Given the description of an element on the screen output the (x, y) to click on. 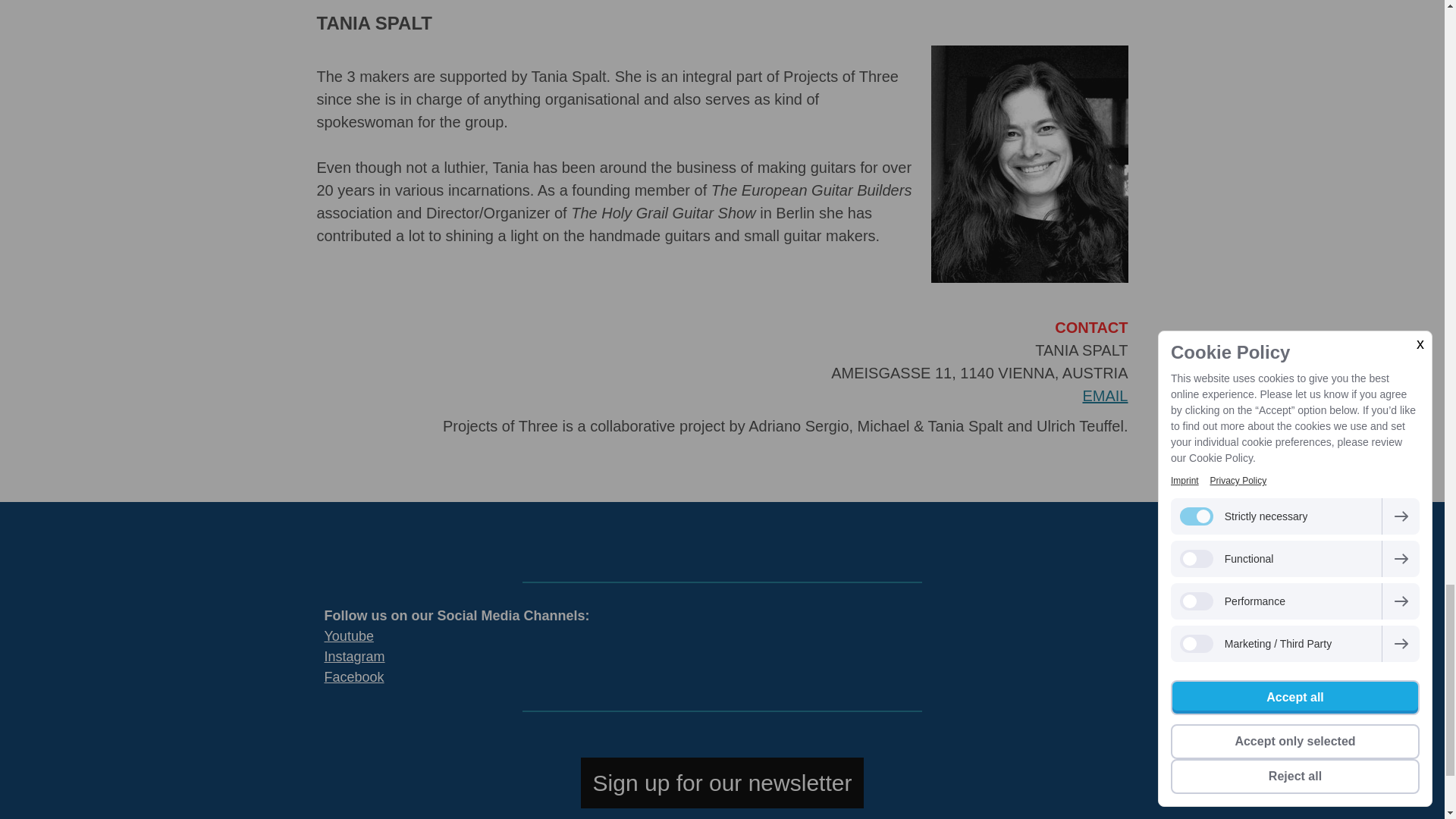
Instagram (354, 656)
Youtube (349, 635)
Facebook (354, 676)
EMAIL (1103, 395)
Sign up for our newsletter (722, 782)
